Given the description of an element on the screen output the (x, y) to click on. 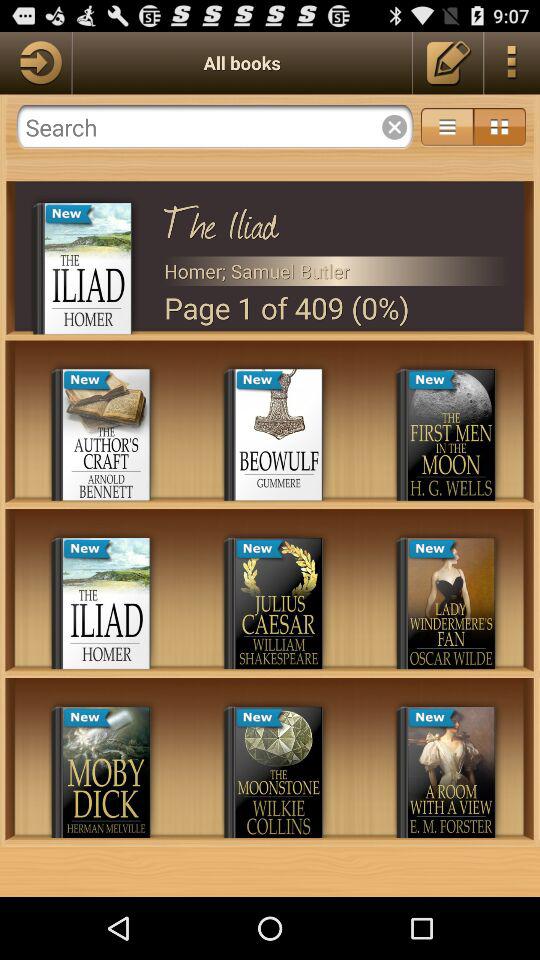
select icon above page 1 of icon (336, 270)
